Given the description of an element on the screen output the (x, y) to click on. 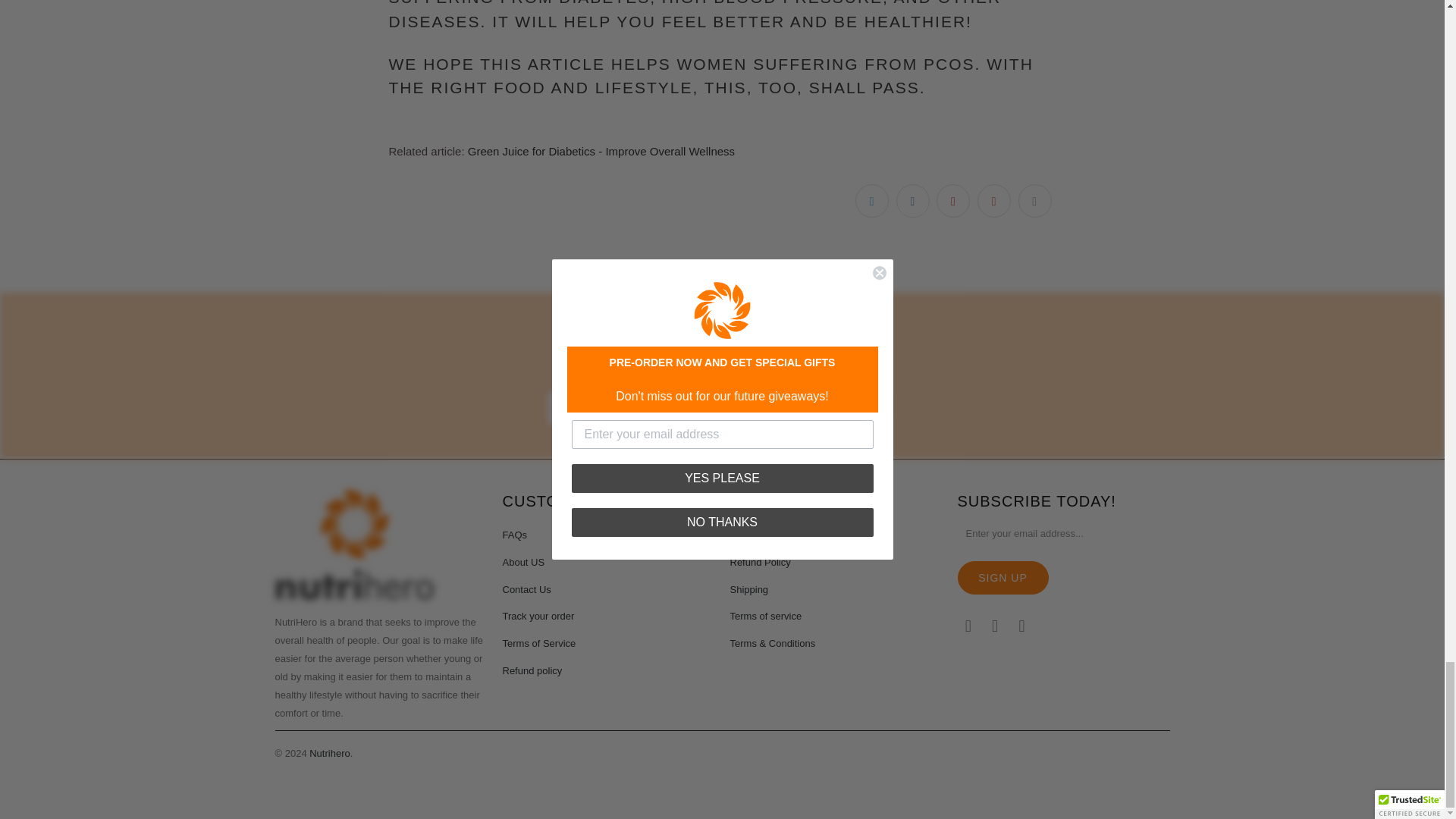
Share this on Twitter (872, 200)
Sign Up (842, 408)
Sign Up (1002, 577)
green juice for diabetics (601, 151)
